Given the description of an element on the screen output the (x, y) to click on. 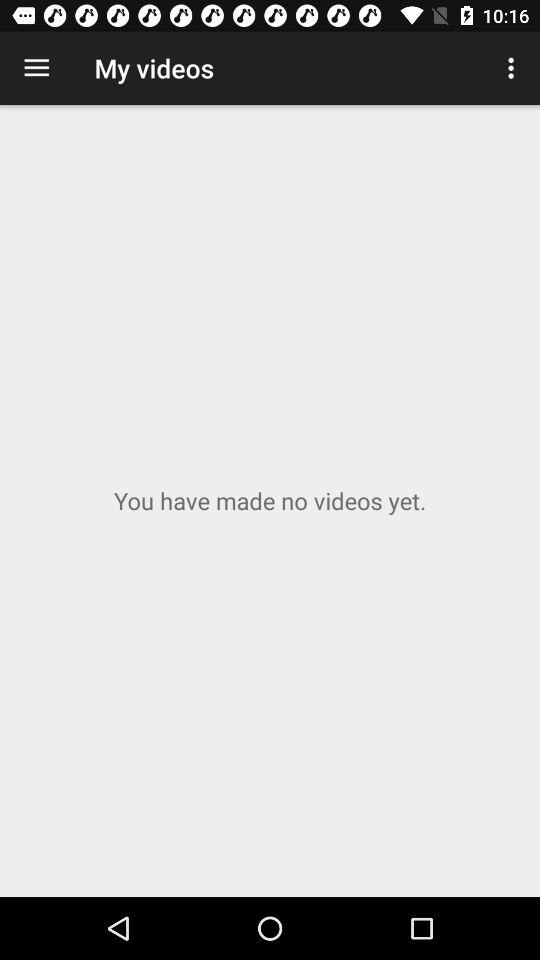
select item to the right of my videos (513, 67)
